Given the description of an element on the screen output the (x, y) to click on. 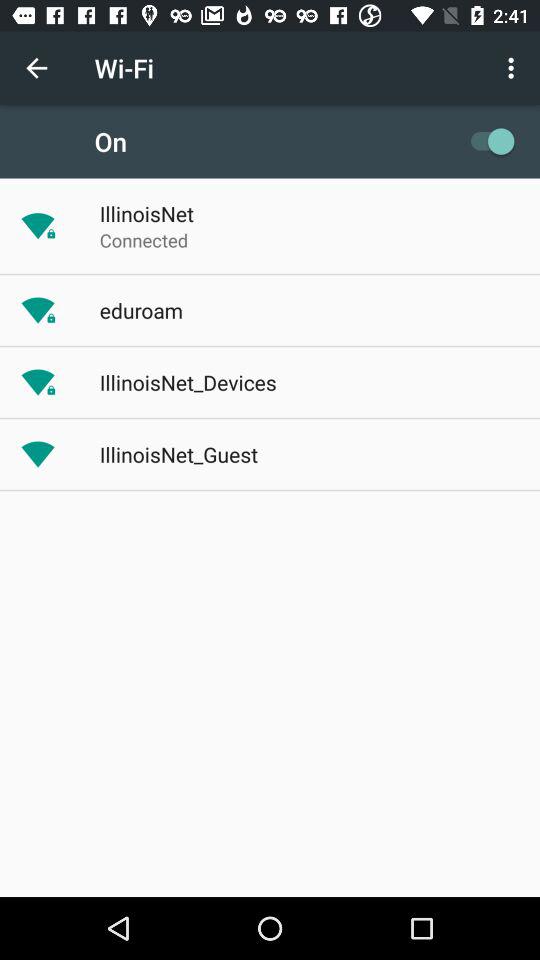
swipe to the eduroam (140, 310)
